Given the description of an element on the screen output the (x, y) to click on. 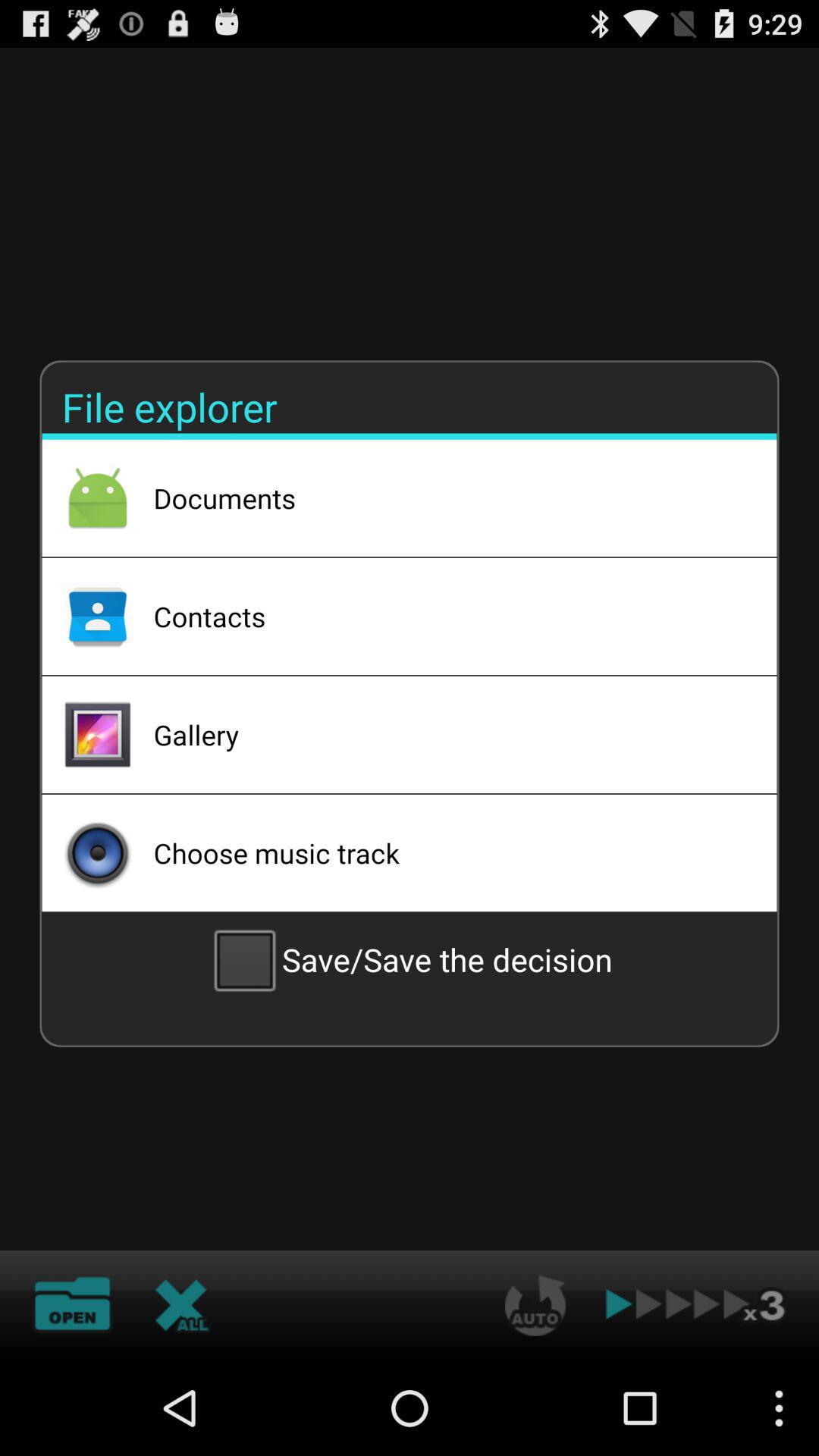
scroll to the documents item (445, 497)
